Given the description of an element on the screen output the (x, y) to click on. 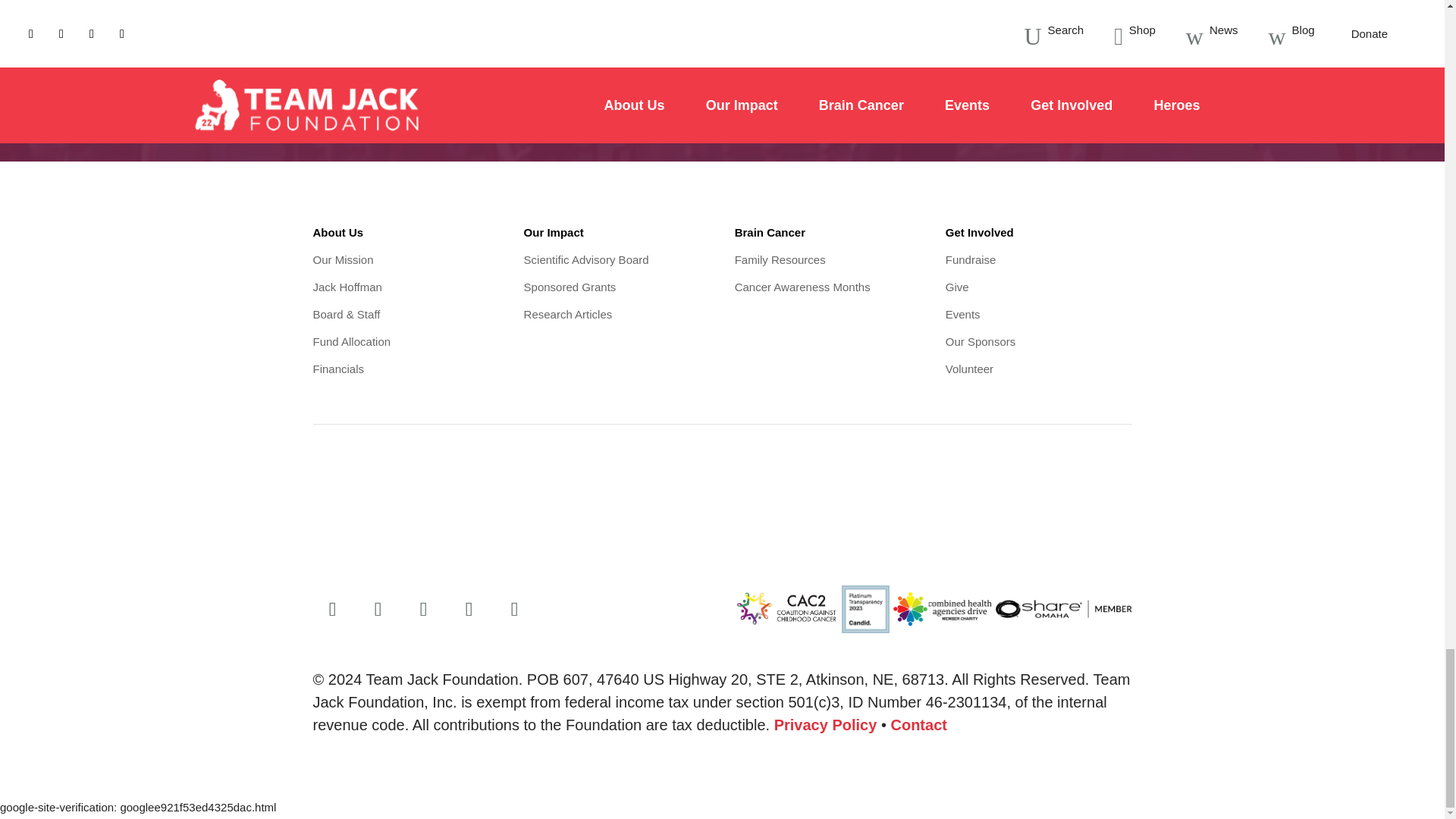
Follow on X (377, 609)
Follow on Facebook (332, 609)
candid-seal-platinum-2023 (865, 609)
Follow on Instagram (424, 609)
Sign Up! (1069, 60)
Follow on Pinterest (514, 609)
Follow on Youtube (469, 609)
